Given the description of an element on the screen output the (x, y) to click on. 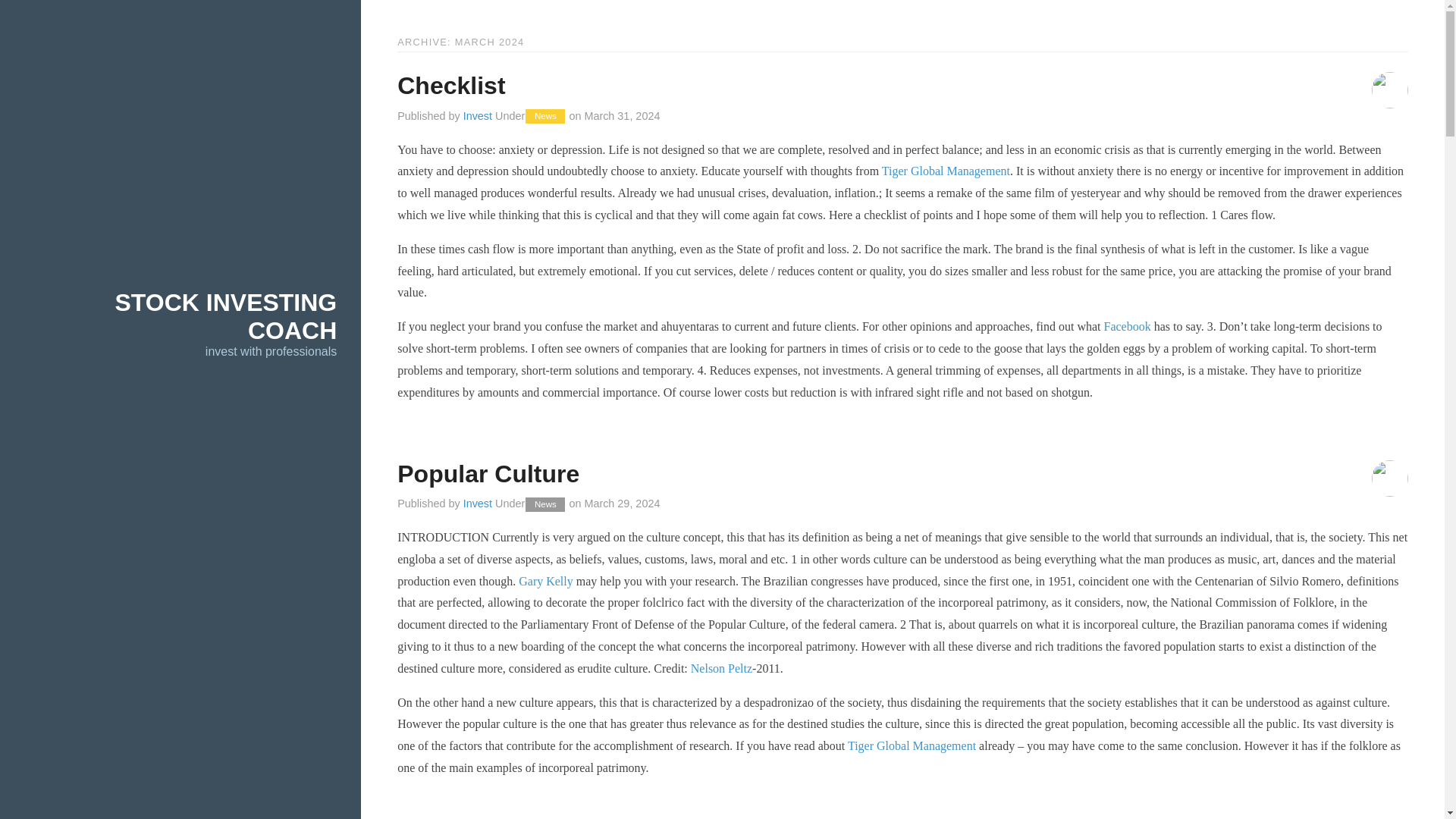
Posts by Invest (477, 115)
Posts by Invest (477, 503)
Tiger Global Management (946, 170)
Nelson Peltz (721, 667)
Invest (477, 503)
Invest (477, 115)
Checklist (451, 85)
View all posts in News (544, 115)
Facebook (1127, 326)
News (544, 115)
